Given the description of an element on the screen output the (x, y) to click on. 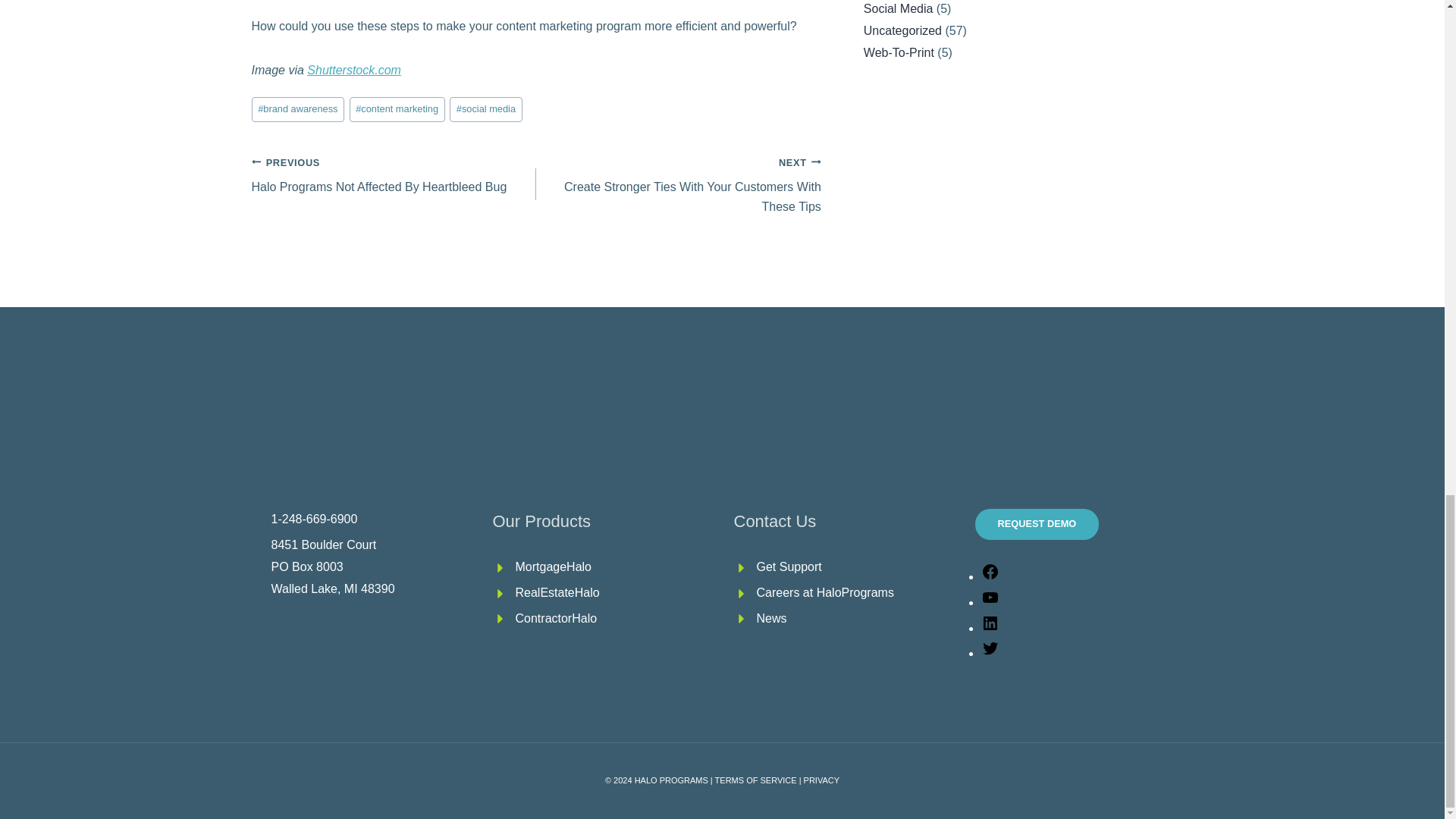
social media (485, 109)
brand awareness (298, 109)
content marketing (397, 109)
Shutterstock.com (394, 174)
